Given the description of an element on the screen output the (x, y) to click on. 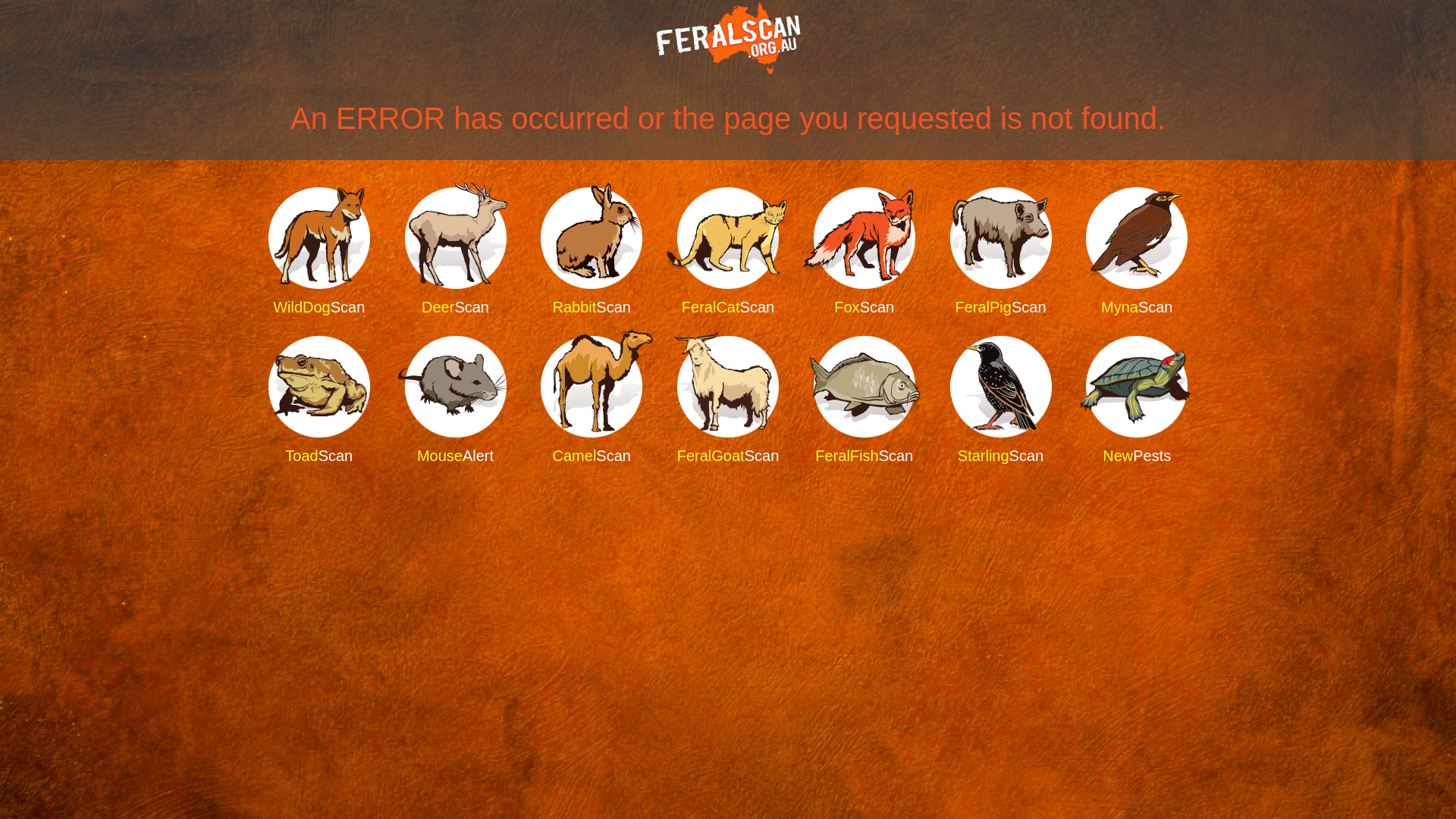
FeralCatScan Element type: text (727, 252)
CamelScan Element type: text (591, 400)
StarlingScan Element type: text (999, 400)
MouseAlert Element type: text (455, 400)
FeralPigScan Element type: text (999, 252)
WildDogScan Element type: text (318, 252)
RabbitScan Element type: text (591, 252)
FeralScan Element type: hover (727, 38)
DeerScan Element type: text (455, 252)
NewPests Element type: text (1136, 400)
FeralGoatScan Element type: text (727, 400)
FeralFishScan Element type: text (864, 400)
MynaScan Element type: text (1136, 252)
FoxScan Element type: text (864, 252)
ToadScan Element type: text (318, 400)
